Given the description of an element on the screen output the (x, y) to click on. 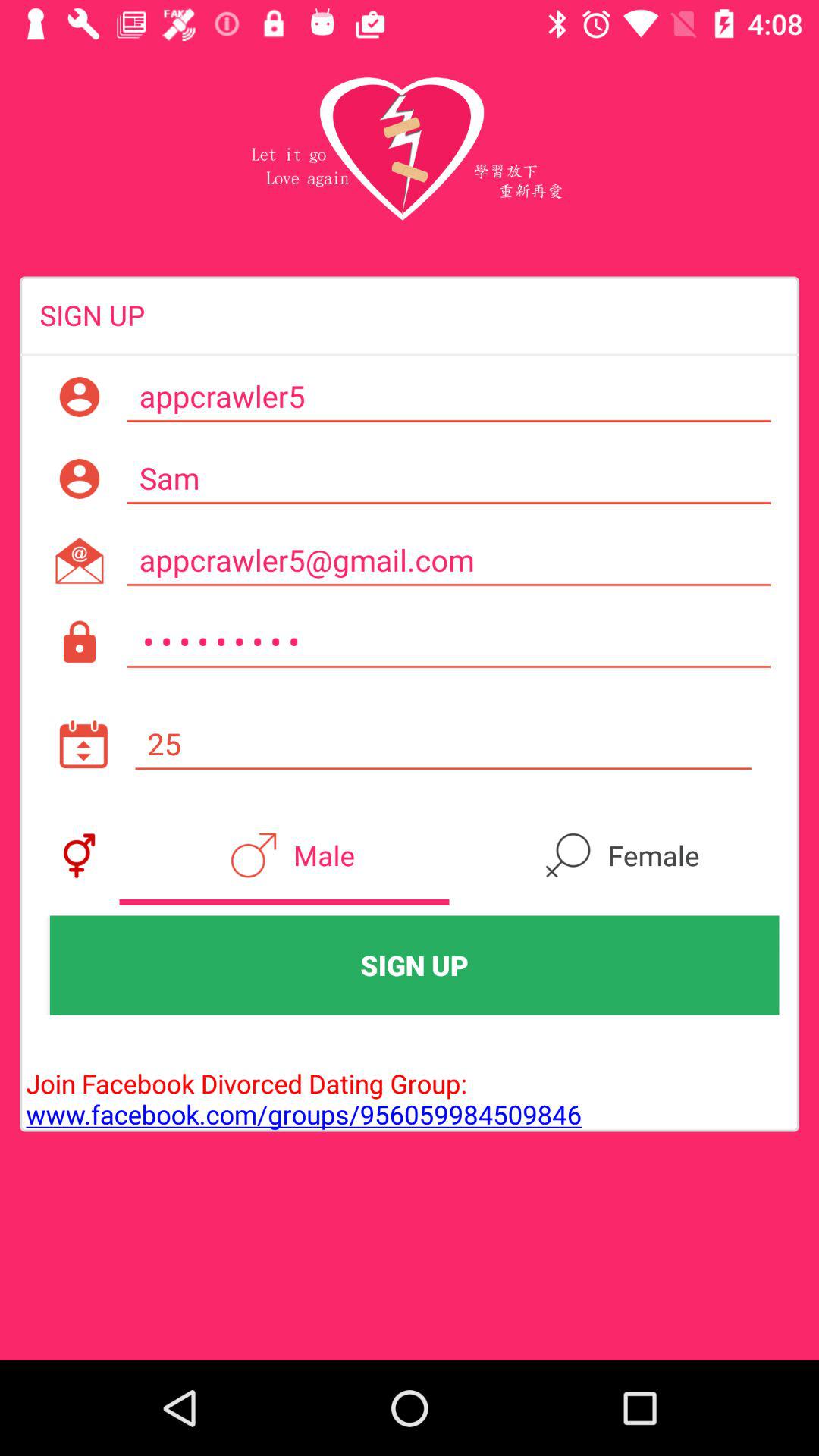
click join facebook divorced (300, 1083)
